Given the description of an element on the screen output the (x, y) to click on. 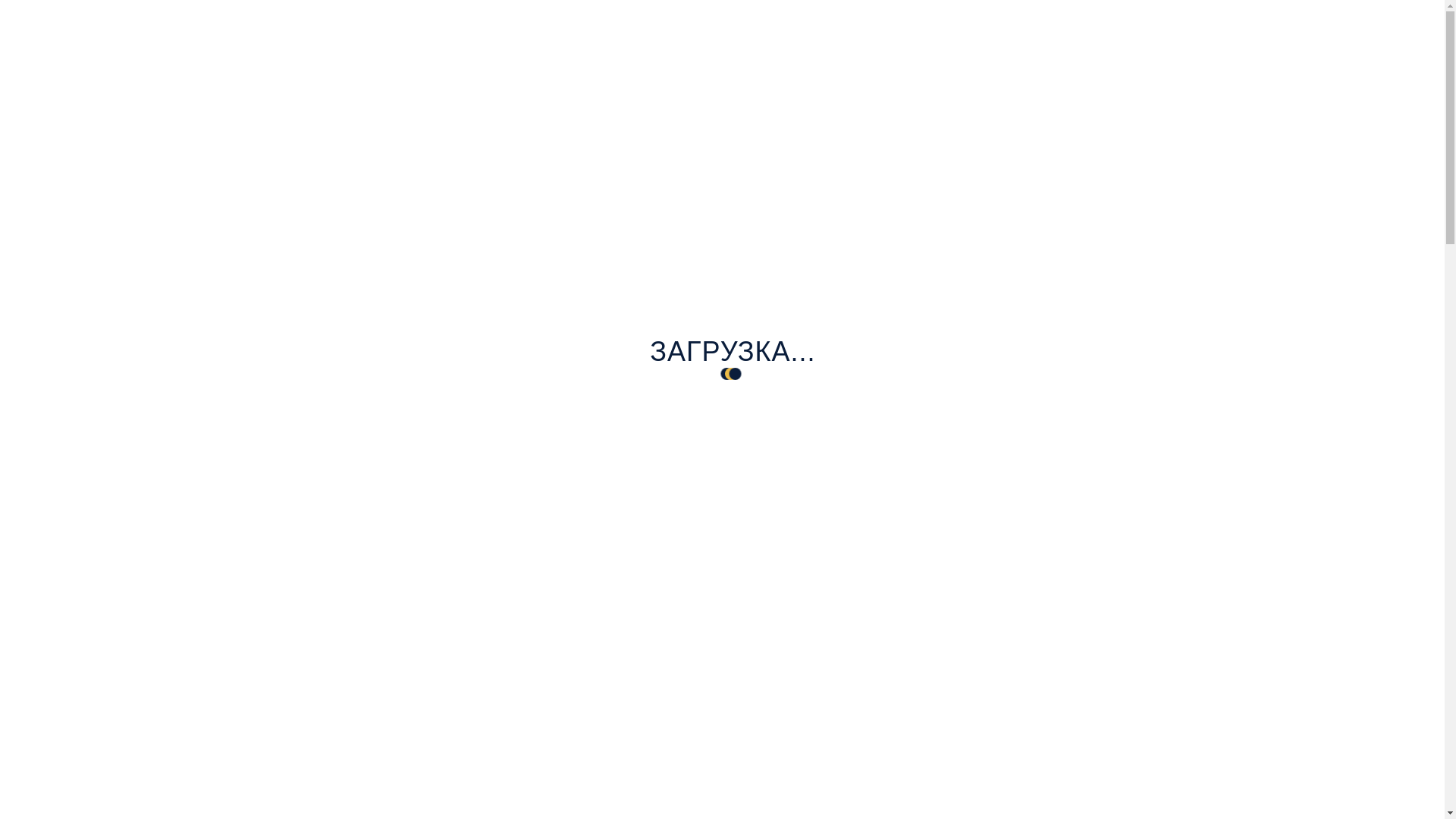
+375 44 763-65-65 Element type: text (1100, 82)
